Given the description of an element on the screen output the (x, y) to click on. 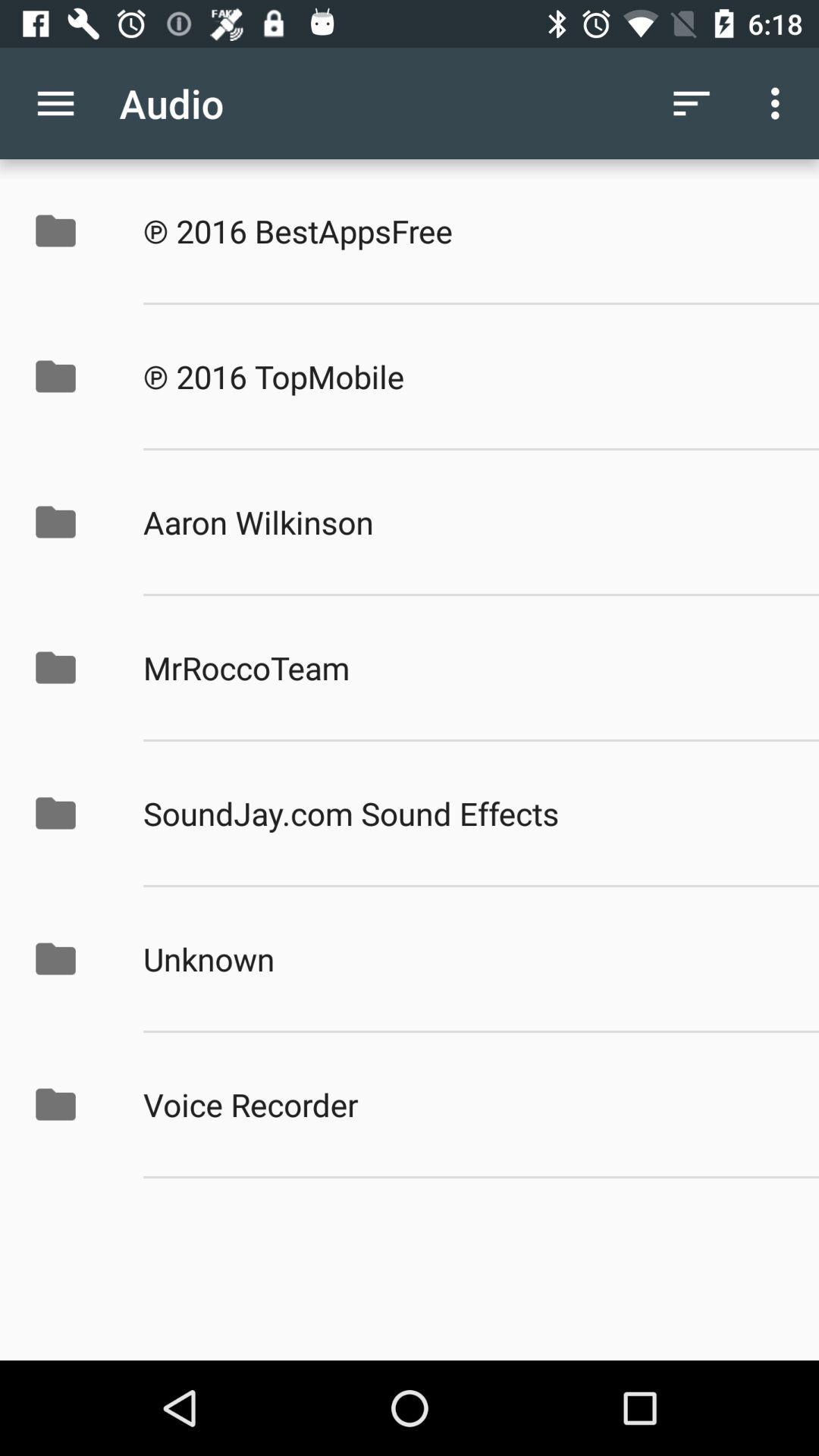
scroll until the unknown (465, 958)
